Given the description of an element on the screen output the (x, y) to click on. 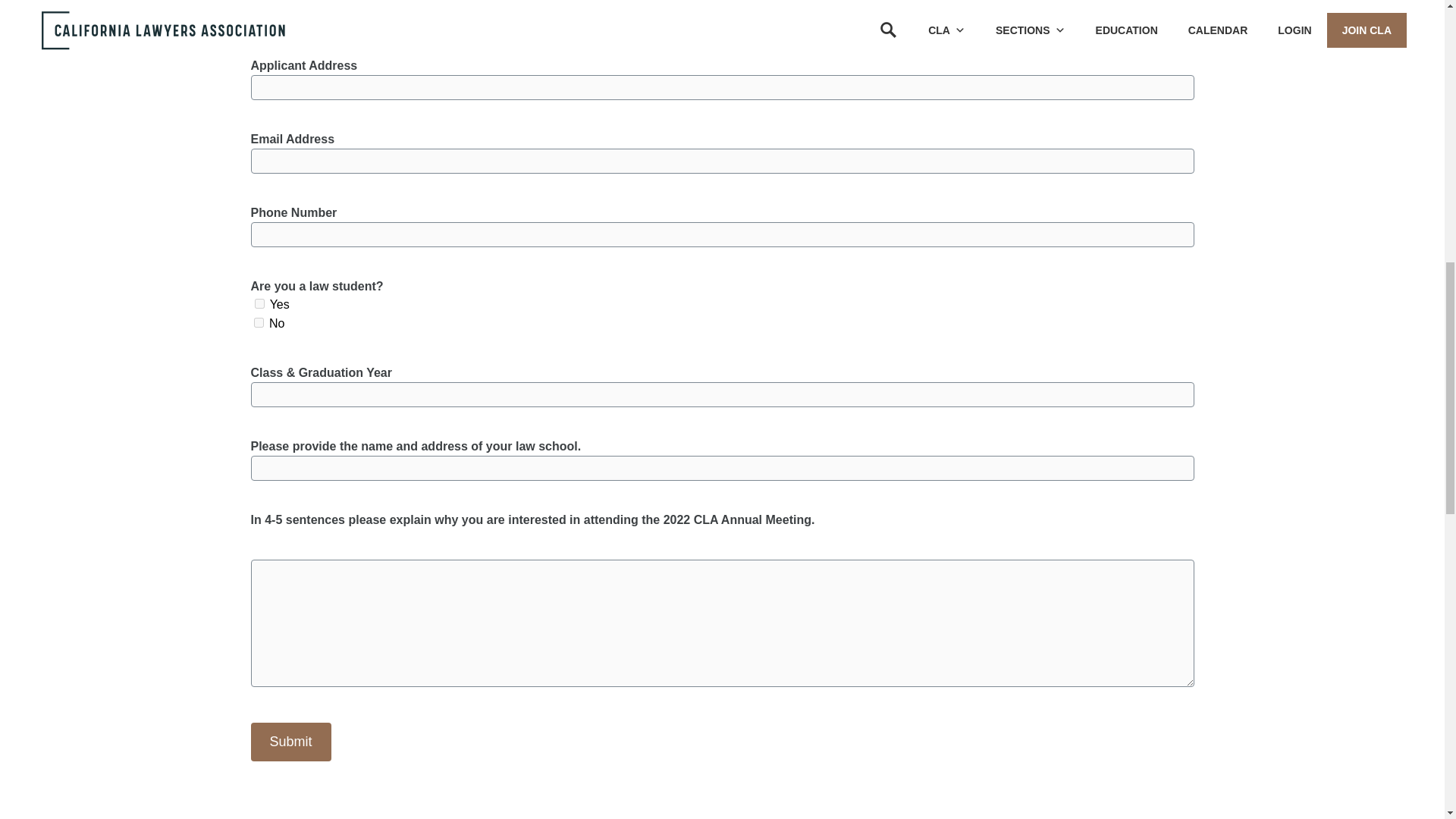
Submit (290, 741)
No (258, 322)
Yes (259, 303)
